Given the description of an element on the screen output the (x, y) to click on. 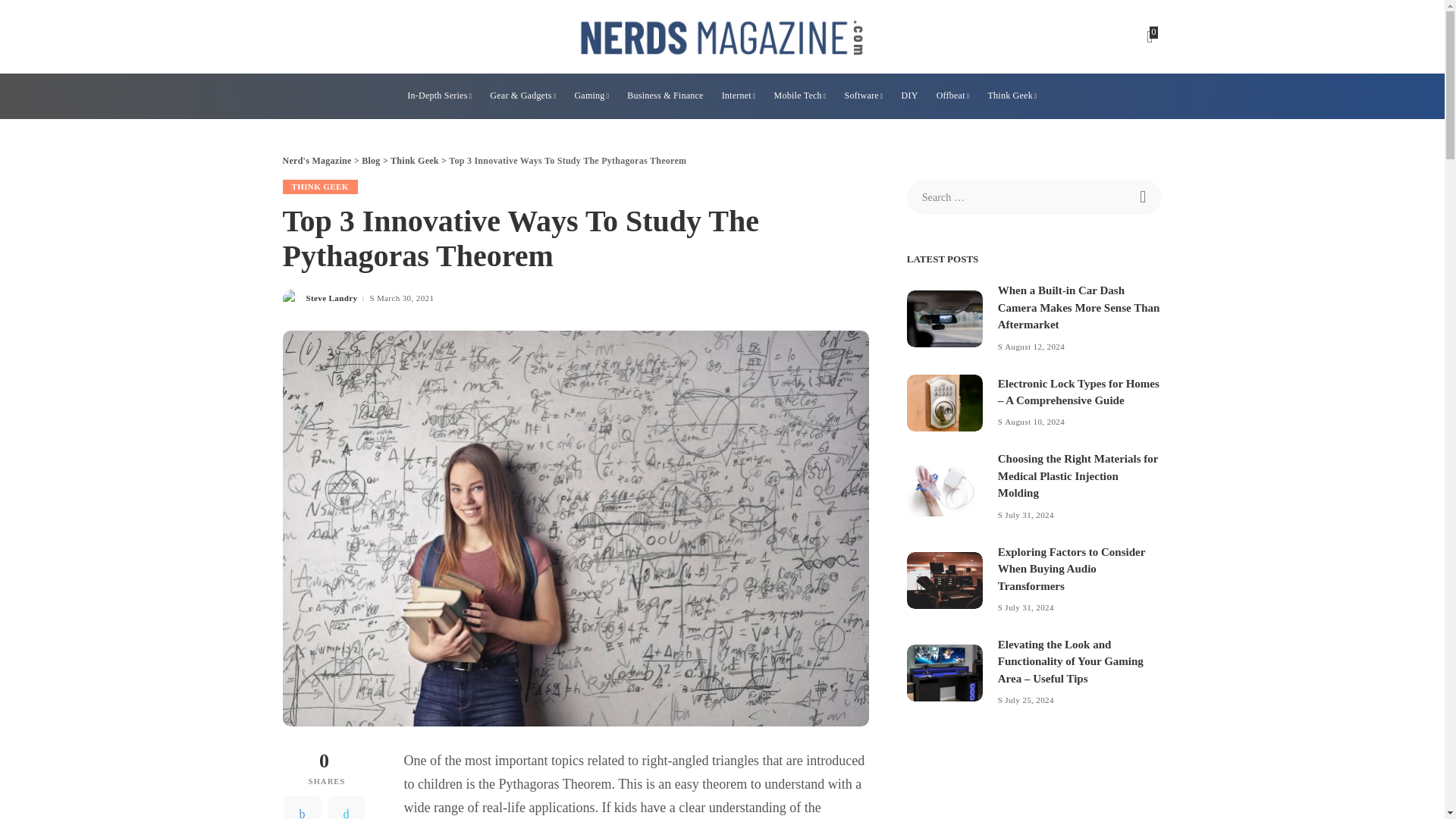
Nerd's Magazine (722, 36)
Search (1143, 196)
Go to Nerd's Magazine. (316, 160)
Twitter (345, 807)
Go to Blog. (370, 160)
In-Depth Series (438, 95)
Go to the Think Geek Category archives. (414, 160)
Search (1143, 196)
Gaming (590, 95)
2021-03-30T10:34:28-05:00 (405, 298)
